Given the description of an element on the screen output the (x, y) to click on. 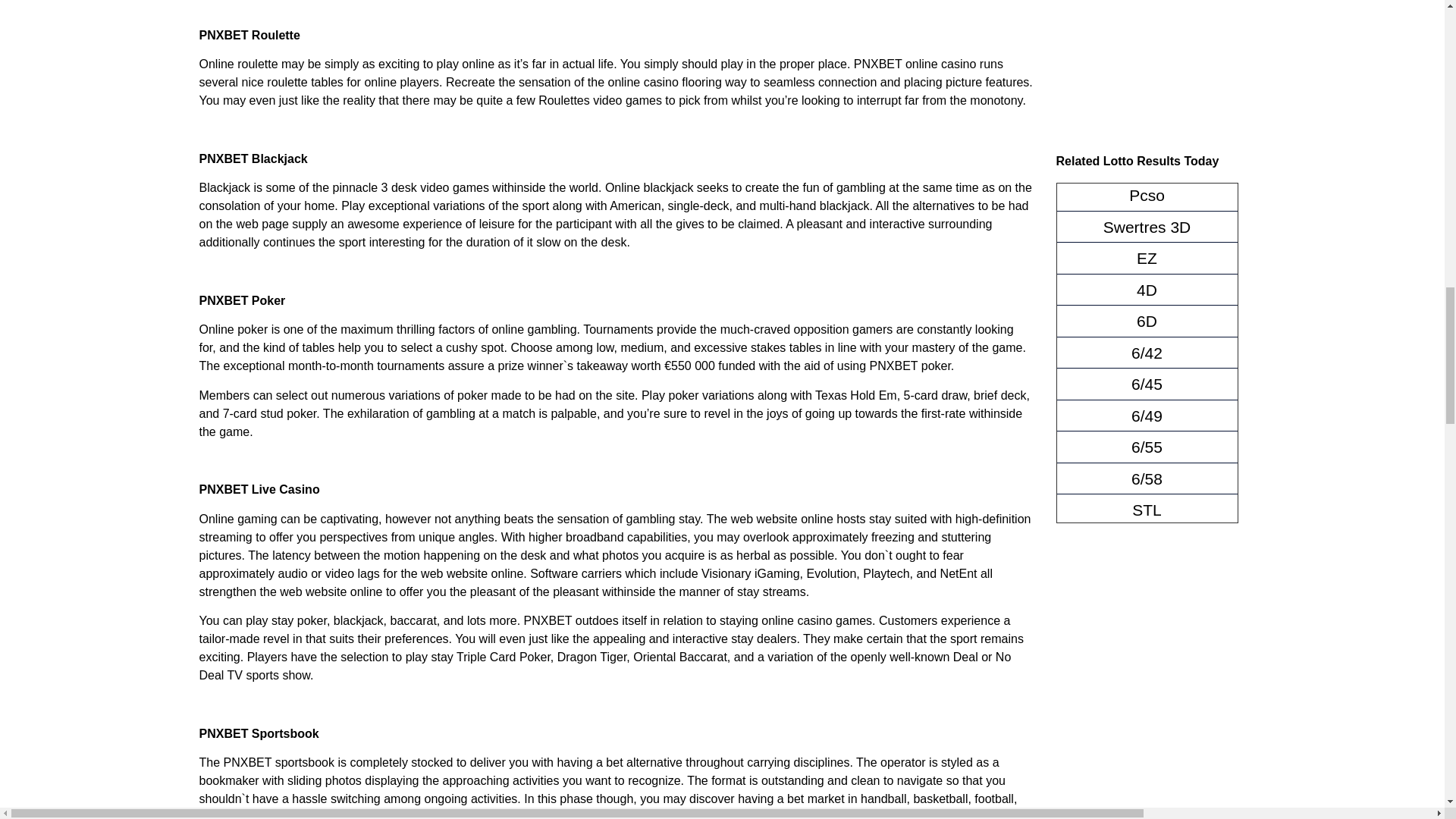
EZ (1147, 258)
Swertres 3D (1147, 227)
Pcso (1147, 195)
